Given the description of an element on the screen output the (x, y) to click on. 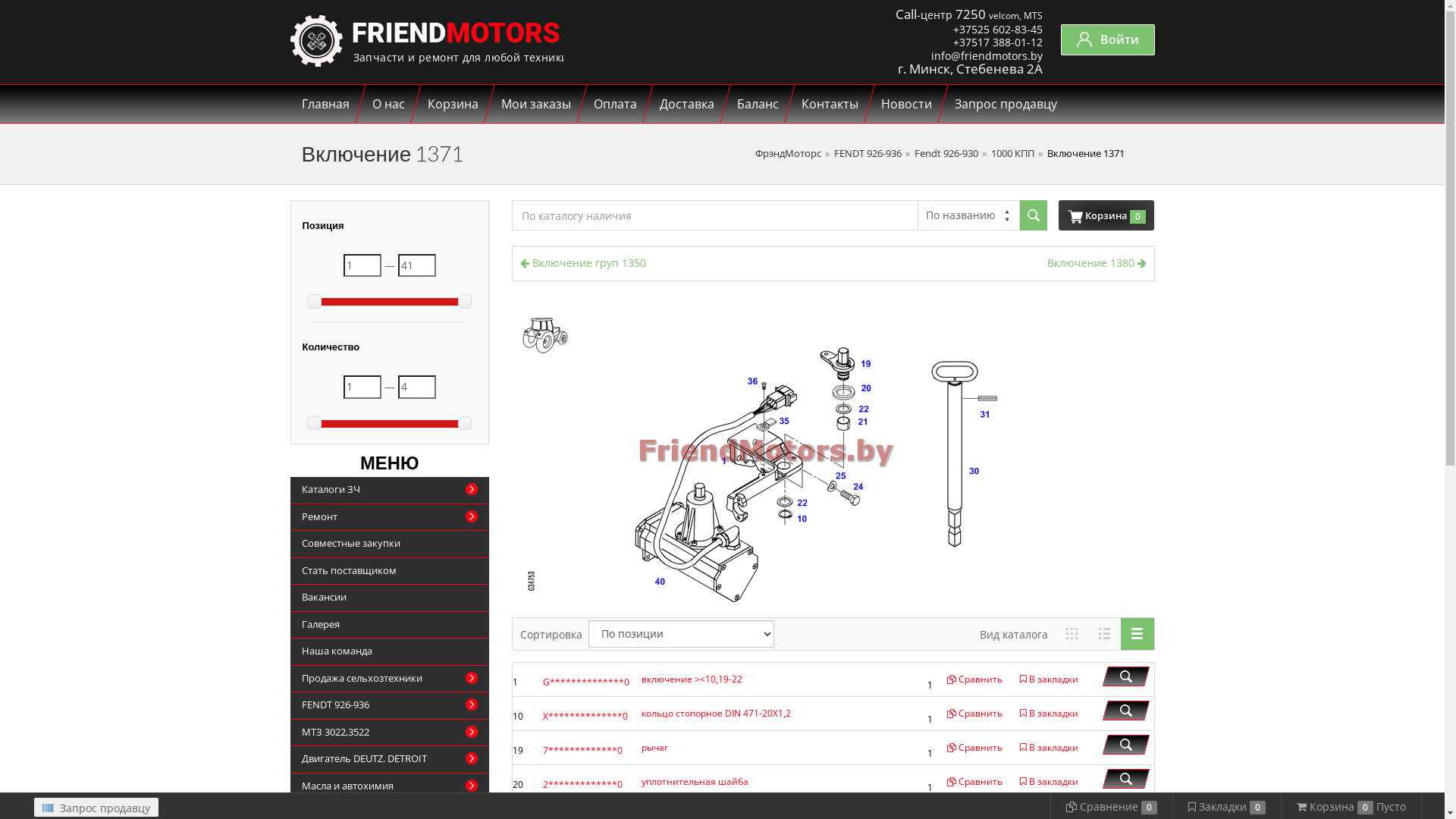
7*************0 Element type: text (582, 749)
2*************0 Element type: text (582, 784)
FENDT 926-936 Element type: text (867, 153)
Fendt 926-930 Element type: text (946, 153)
G**************0 Element type: text (585, 681)
FENDT 926-936 Element type: text (389, 705)
X**************0 Element type: text (584, 715)
